Given the description of an element on the screen output the (x, y) to click on. 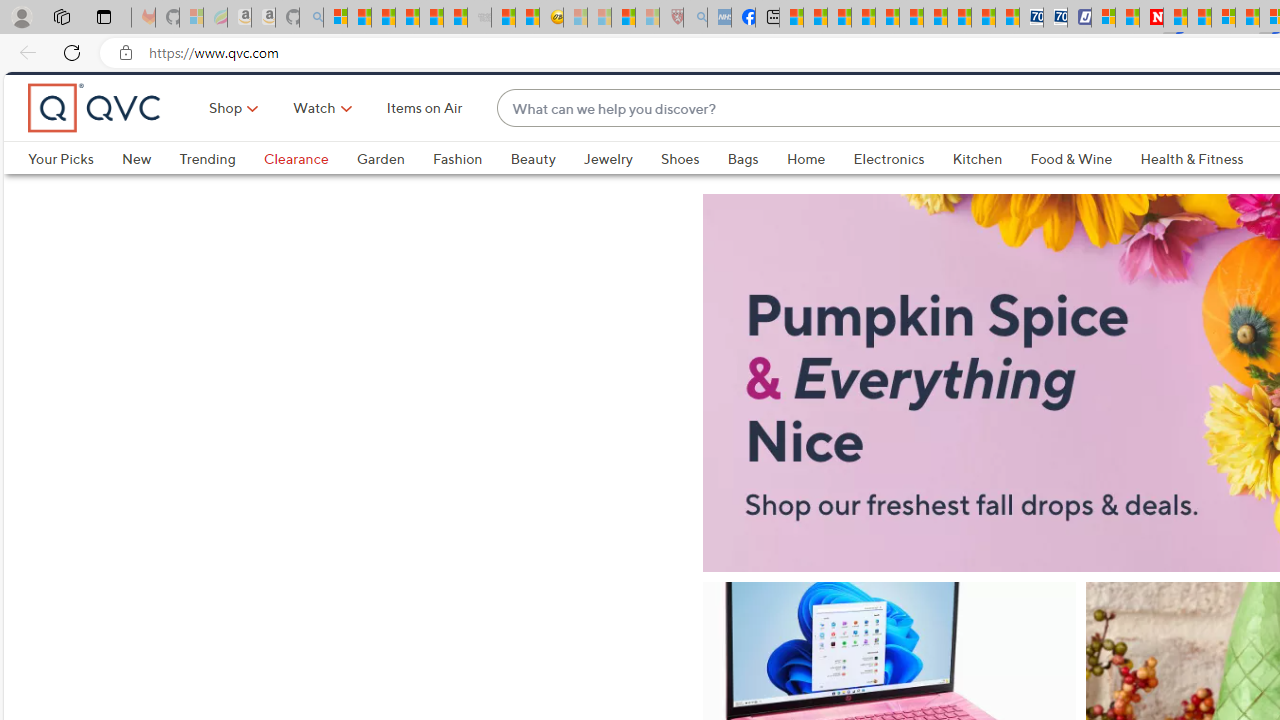
Clearance (309, 192)
Trending (221, 192)
Watch (314, 141)
Garden (379, 192)
Items on Air (424, 141)
12 Popular Science Lies that Must be Corrected - Sleeping (647, 17)
